Given the description of an element on the screen output the (x, y) to click on. 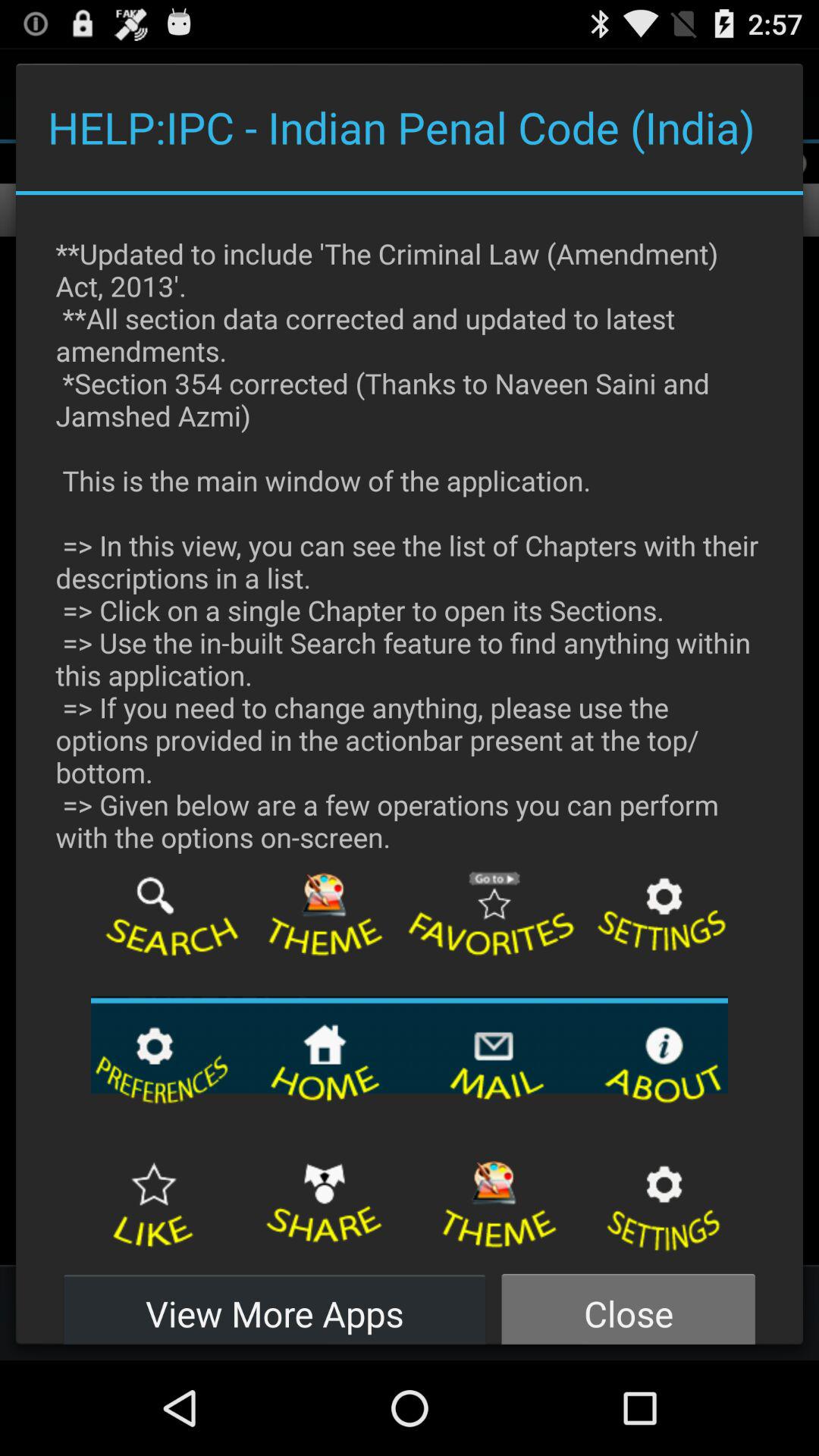
click the button at the bottom right corner (628, 1305)
